Given the description of an element on the screen output the (x, y) to click on. 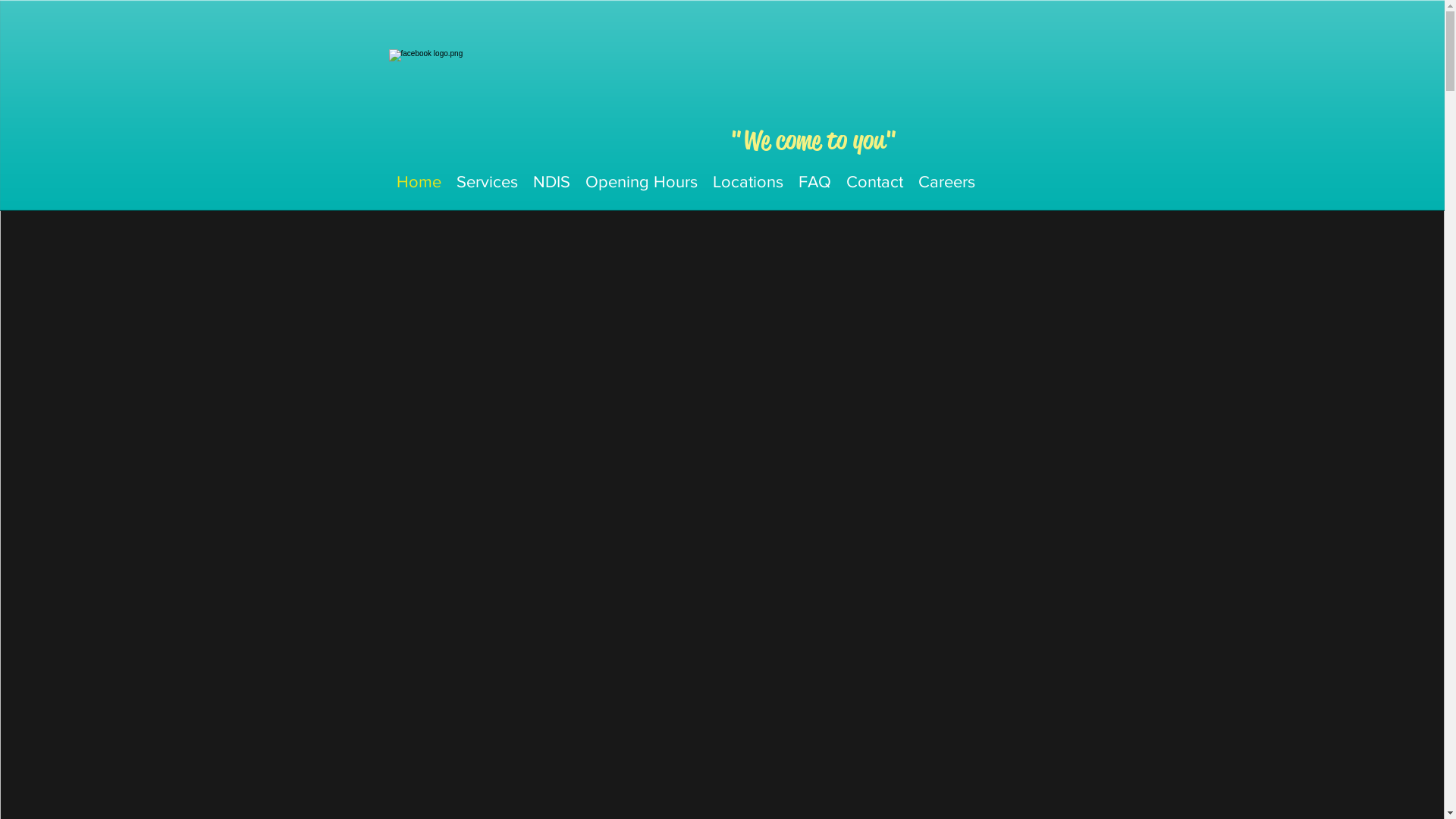
Careers Element type: text (946, 181)
Opening Hours Element type: text (641, 181)
FAQ Element type: text (813, 181)
Contact Element type: text (874, 181)
Locations Element type: text (747, 181)
Home Element type: text (418, 181)
Services Element type: text (486, 181)
NDIS Element type: text (550, 181)
